Given the description of an element on the screen output the (x, y) to click on. 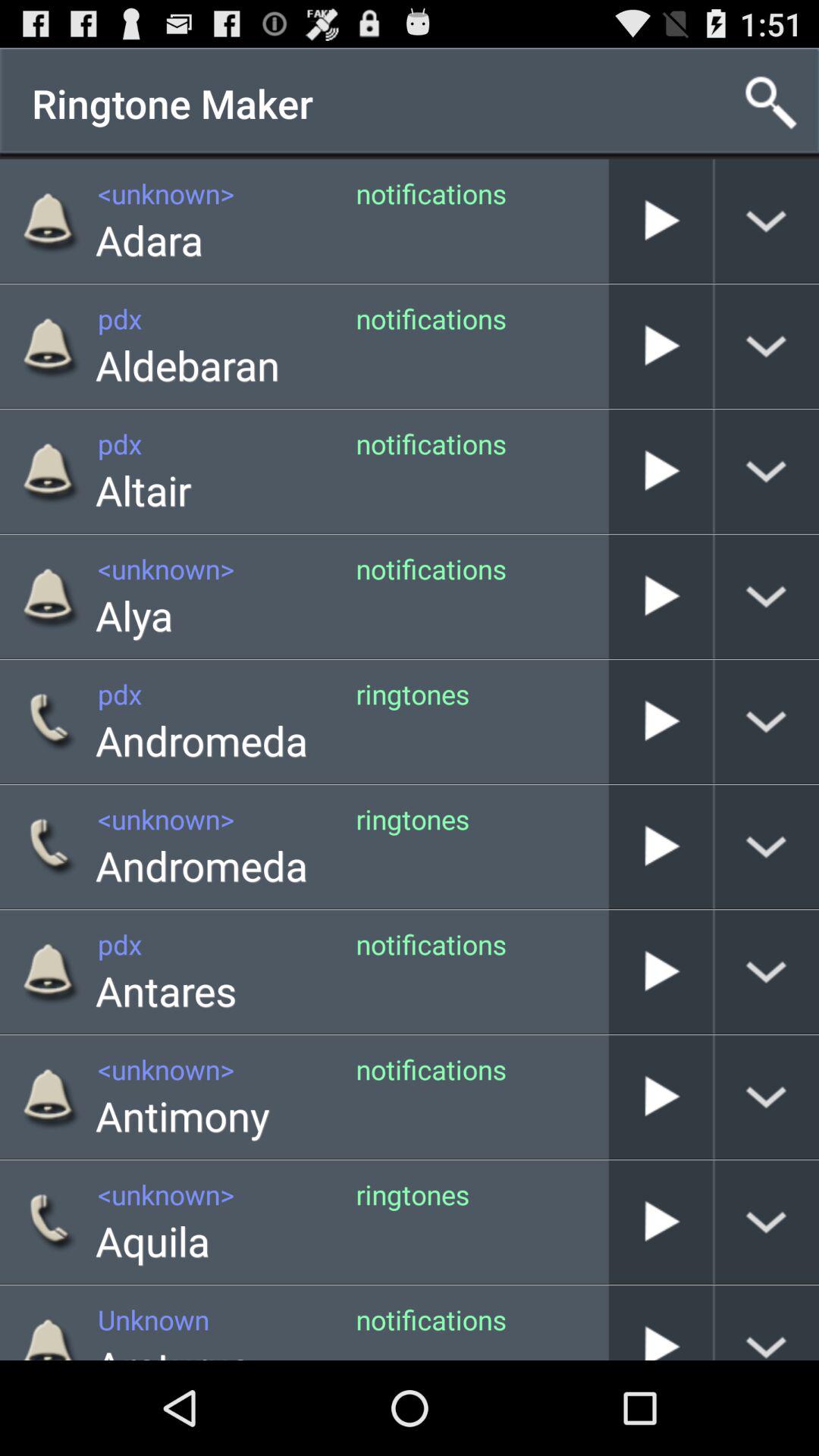
play this ringtone (660, 721)
